Given the description of an element on the screen output the (x, y) to click on. 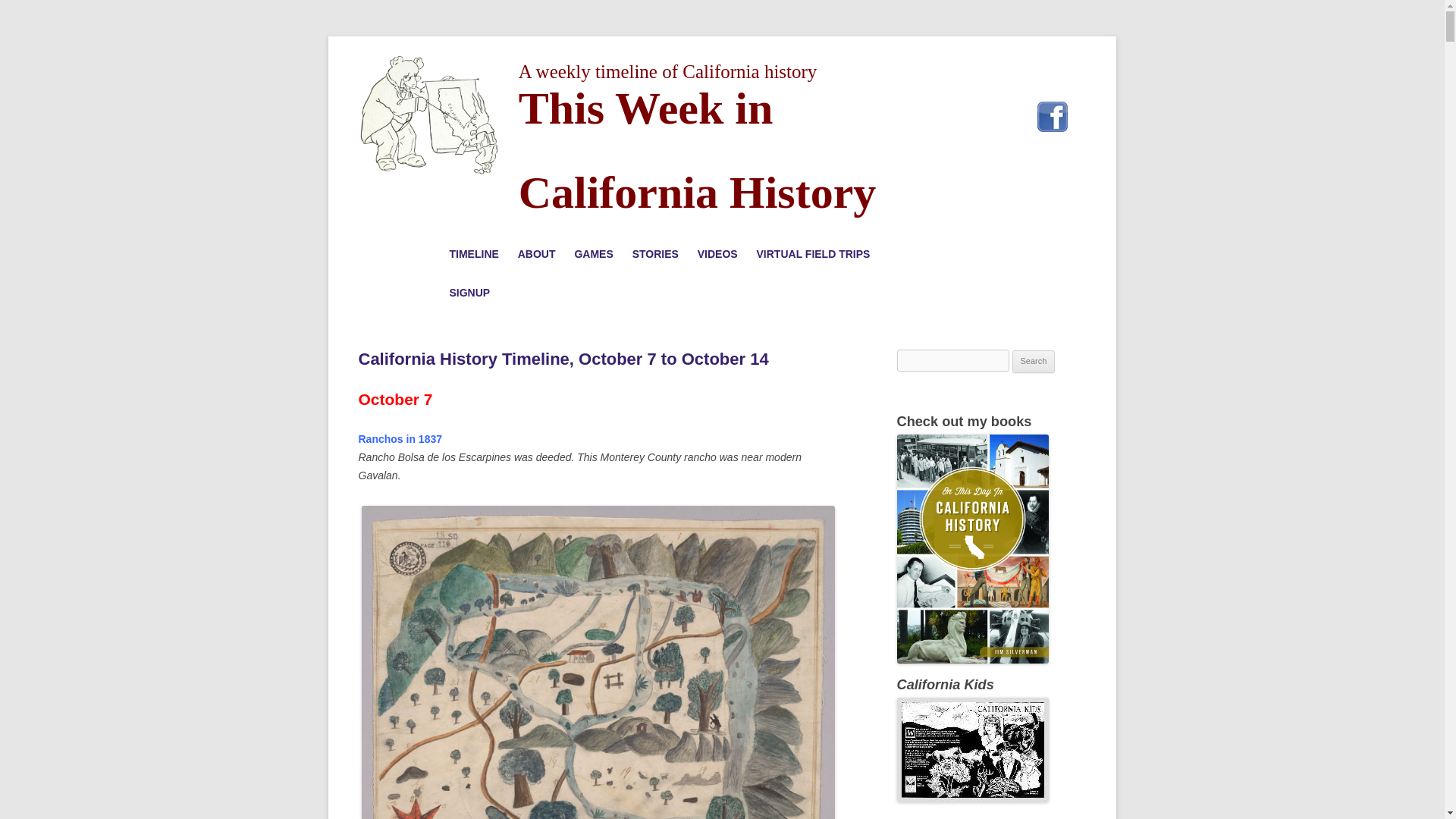
Search (1033, 361)
SIGNUP (468, 292)
TIMELINE (472, 254)
Search (1033, 361)
This Week in California History (430, 115)
GAMES (592, 254)
This Week in California History (719, 150)
STORIES (654, 254)
ABOUT (537, 254)
VIDEOS (717, 254)
This Week in California History (719, 150)
VIRTUAL FIELD TRIPS (813, 254)
